Given the description of an element on the screen output the (x, y) to click on. 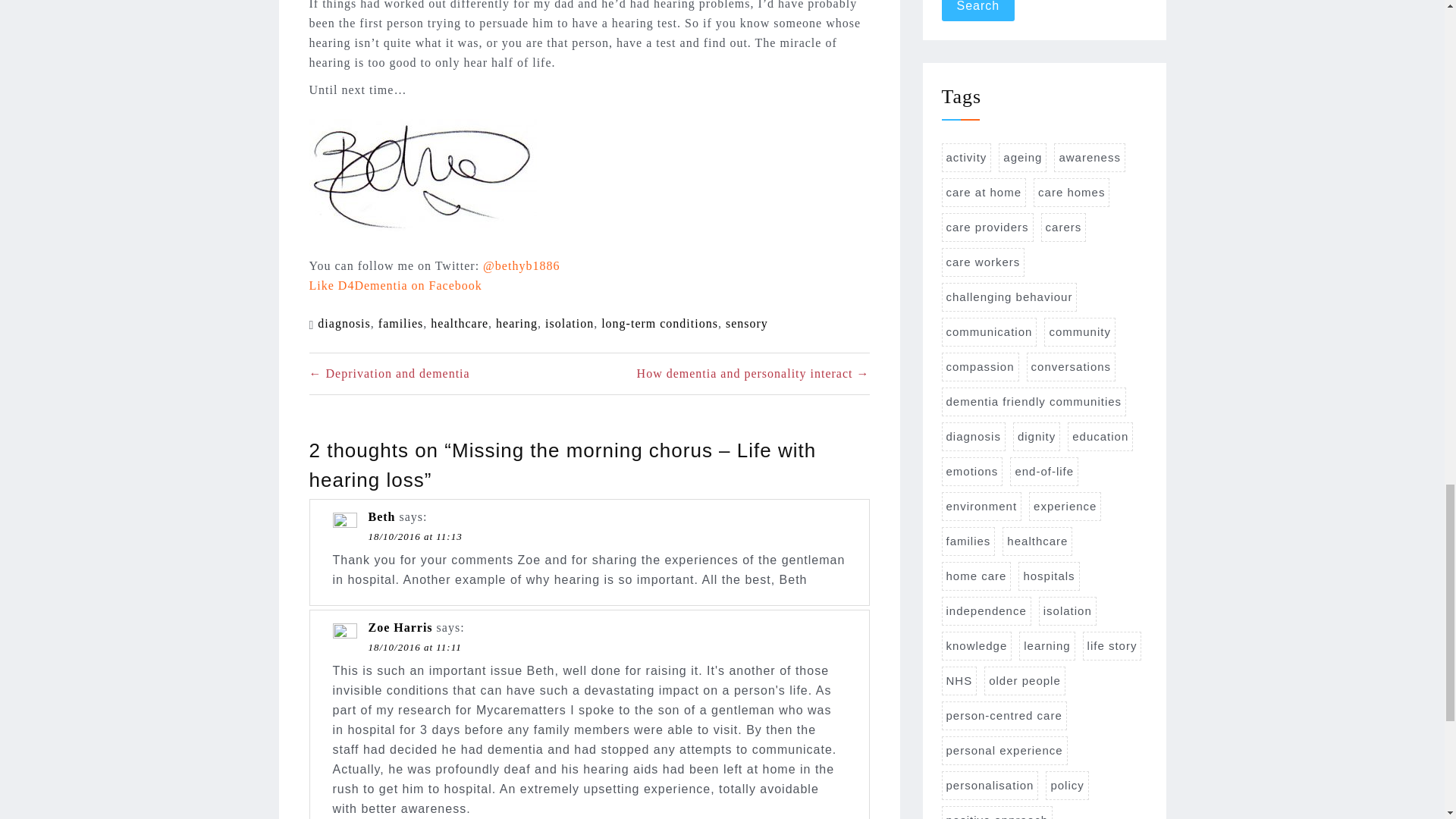
Search (978, 10)
hearing (516, 323)
care providers (987, 226)
sensory (746, 323)
community (1079, 331)
Beth (382, 516)
isolation (569, 323)
activity (966, 157)
Search (978, 10)
Zoe Harris (400, 626)
